Given the description of an element on the screen output the (x, y) to click on. 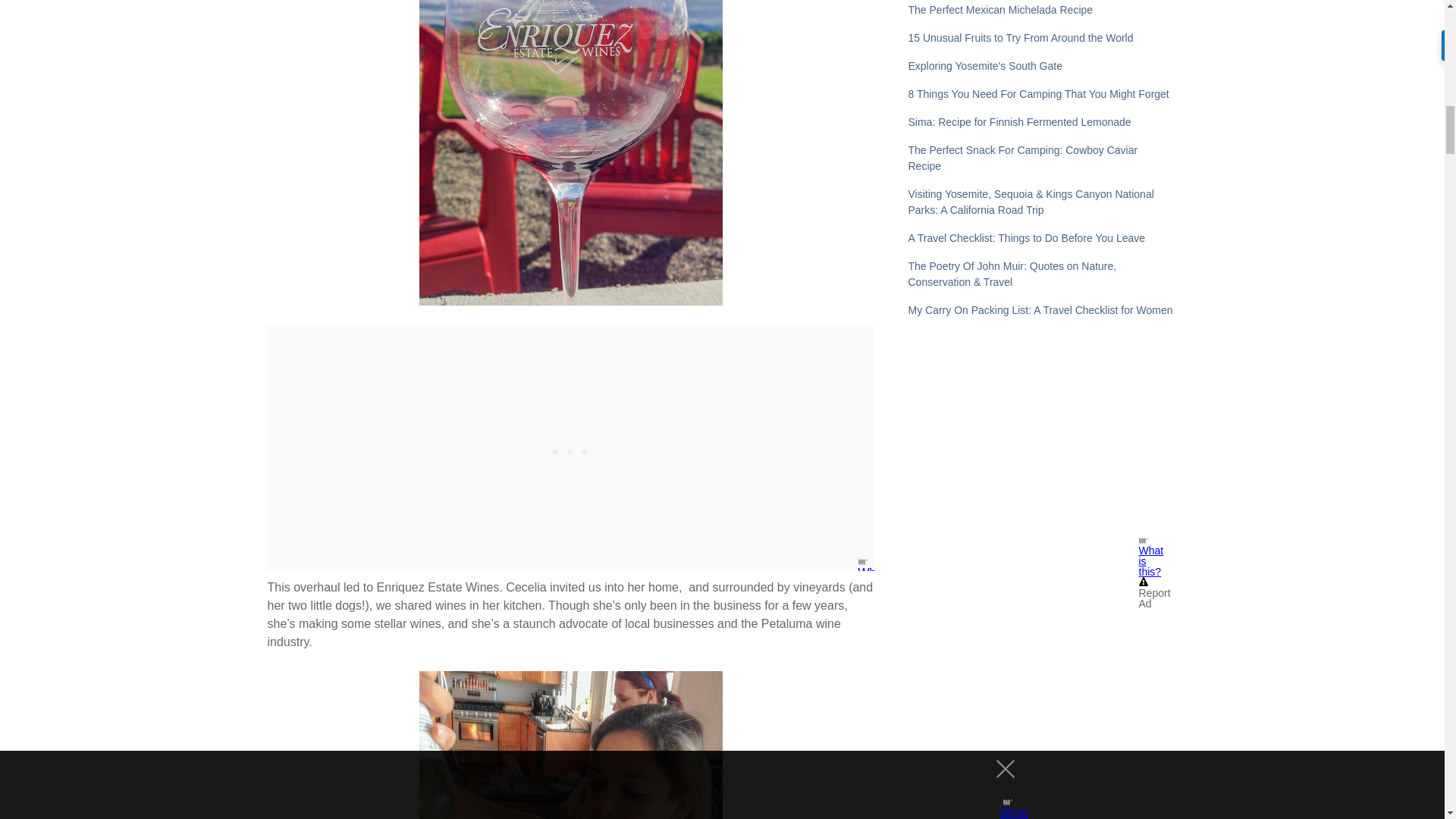
3rd party ad content (569, 447)
Enriquez Estate Wines, Petaluma, CA (570, 152)
Cecelia Enriquez from Enriquez Estate Wines, Petaluma, CA (570, 744)
